Given the description of an element on the screen output the (x, y) to click on. 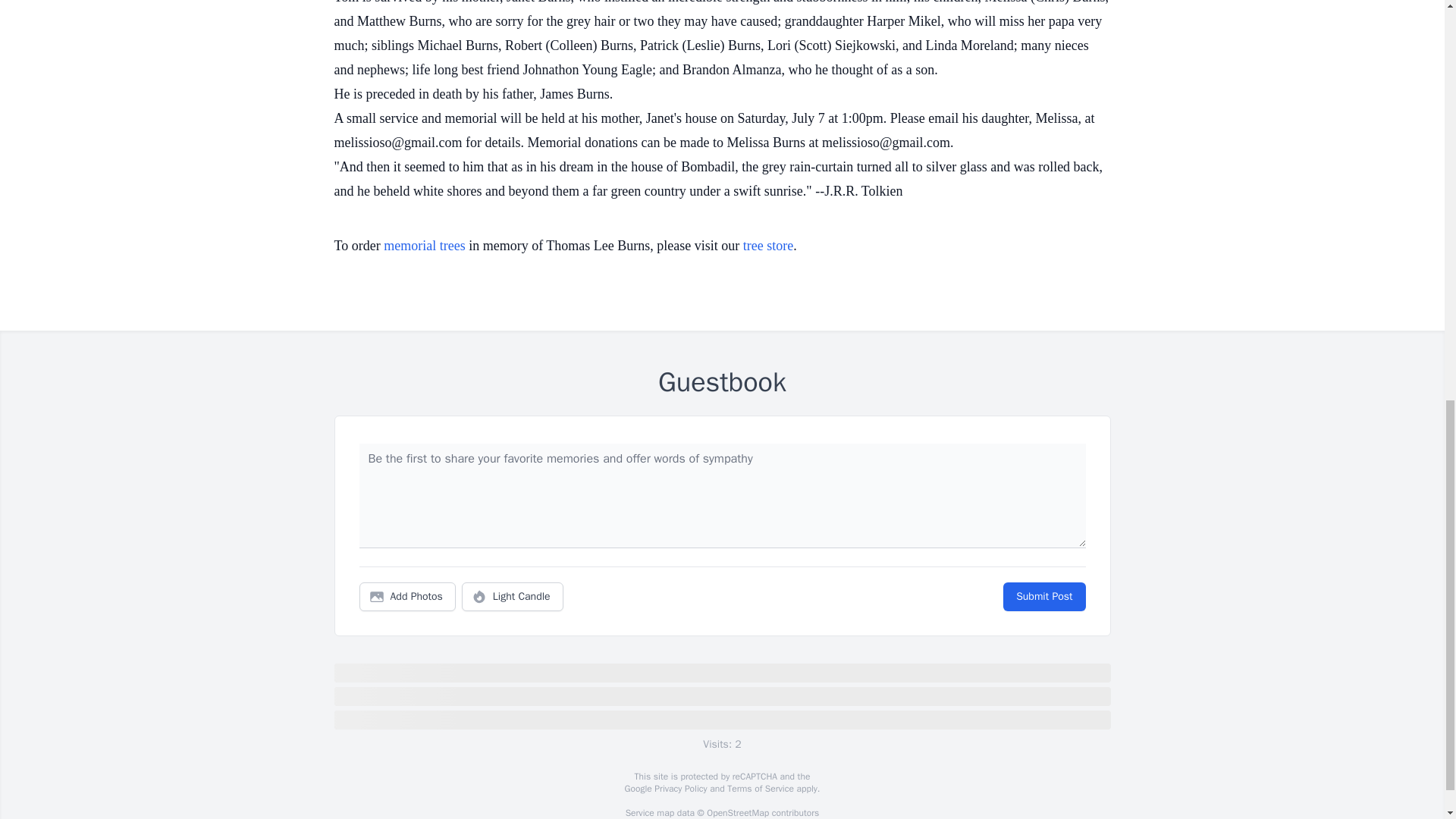
Add Photos (407, 596)
Light Candle (512, 596)
memorial trees (424, 245)
Submit Post (1043, 596)
Terms of Service (759, 788)
Privacy Policy (679, 788)
tree store (767, 245)
OpenStreetMap (737, 812)
